Given the description of an element on the screen output the (x, y) to click on. 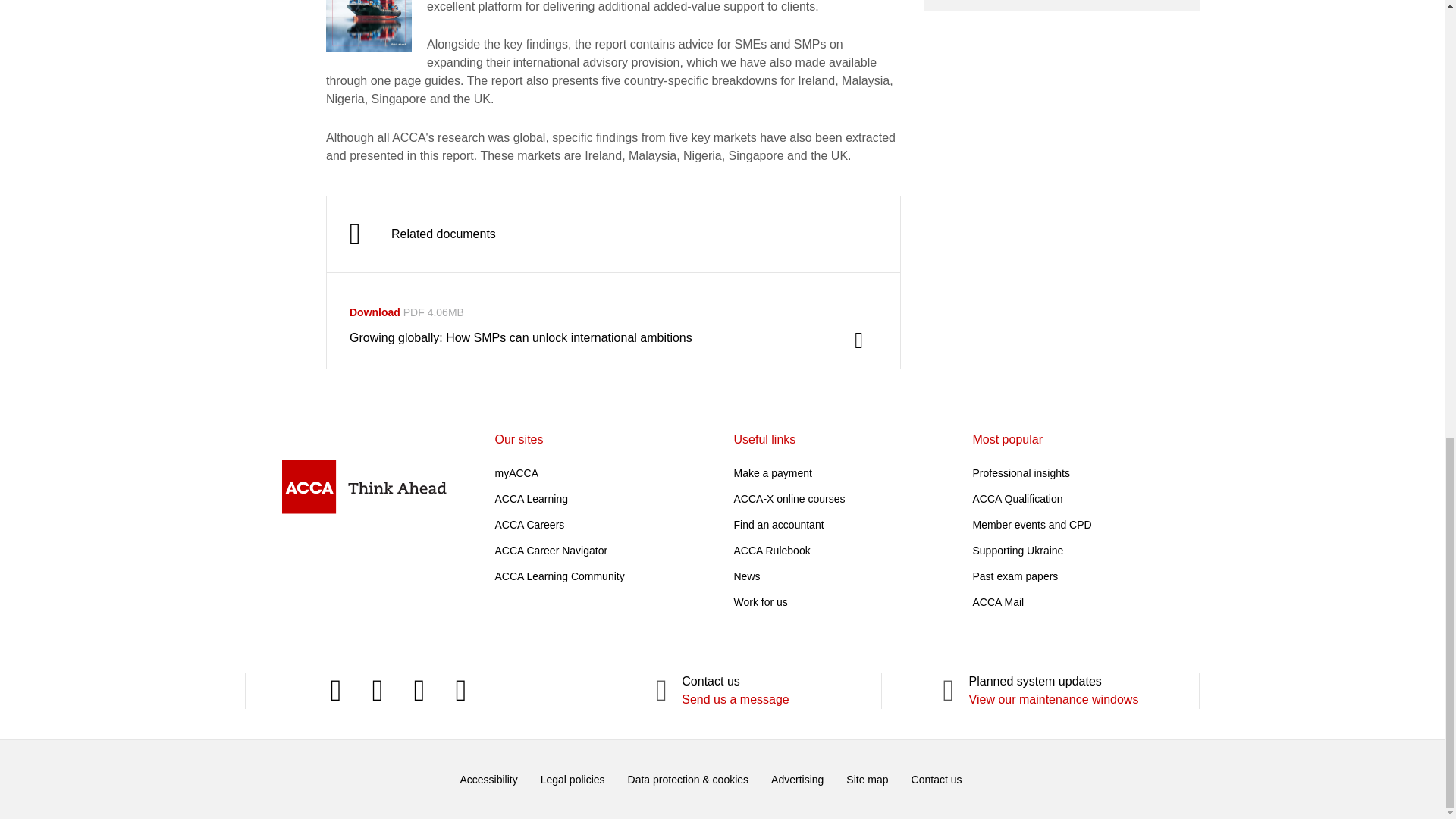
myACCA (516, 472)
Find an accountant (778, 524)
ACCA Career Navigator (551, 550)
ACCA Learning (531, 499)
Make a payment (772, 472)
News (746, 576)
ACCA Careers (529, 524)
ACCA-X online courses (789, 499)
Growing globally (369, 25)
ACCA Qualification (1017, 499)
Work for us (760, 602)
ACCA Rulebook (771, 550)
Home Link (364, 486)
ACCA Learning Community (559, 576)
Professional insights (1020, 472)
